Given the description of an element on the screen output the (x, y) to click on. 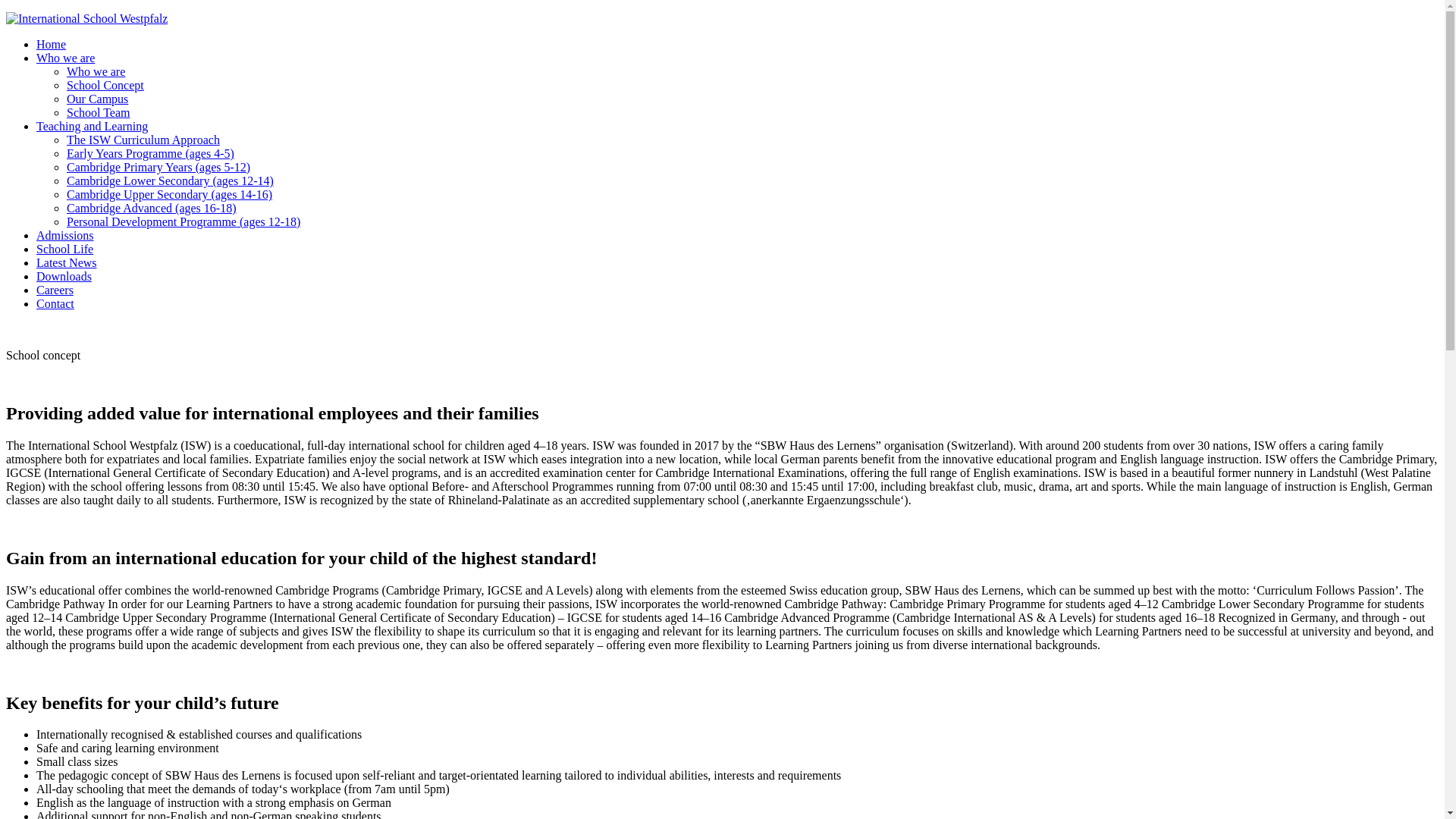
Latest News (66, 262)
Contact (55, 303)
Who we are (95, 71)
Admissions (65, 235)
School Concept (105, 84)
Downloads (63, 276)
Our Campus (97, 98)
School Life (64, 248)
Careers (55, 289)
The ISW Curriculum Approach (142, 139)
